Given the description of an element on the screen output the (x, y) to click on. 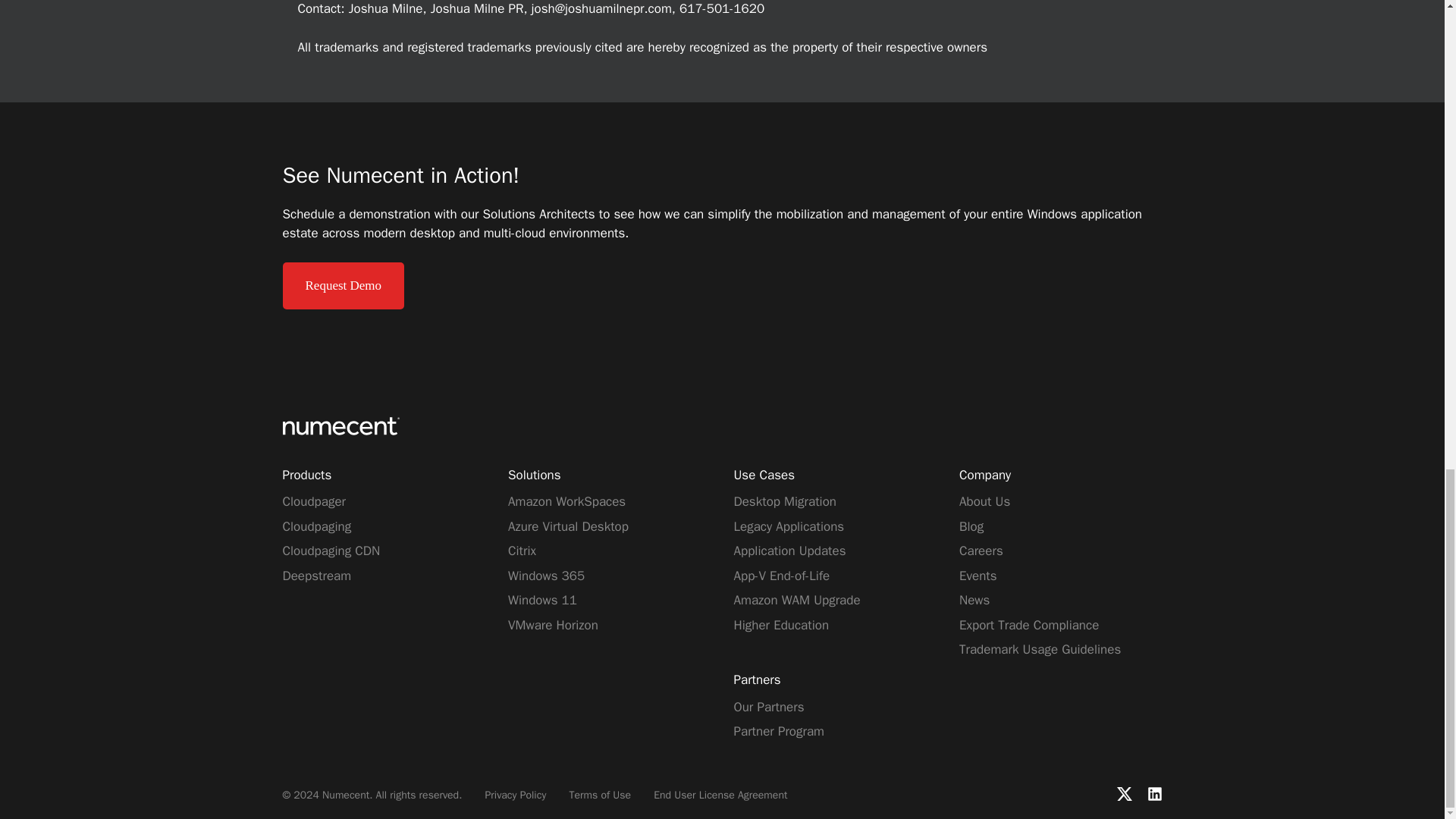
Scroll back to top (1406, 431)
